Given the description of an element on the screen output the (x, y) to click on. 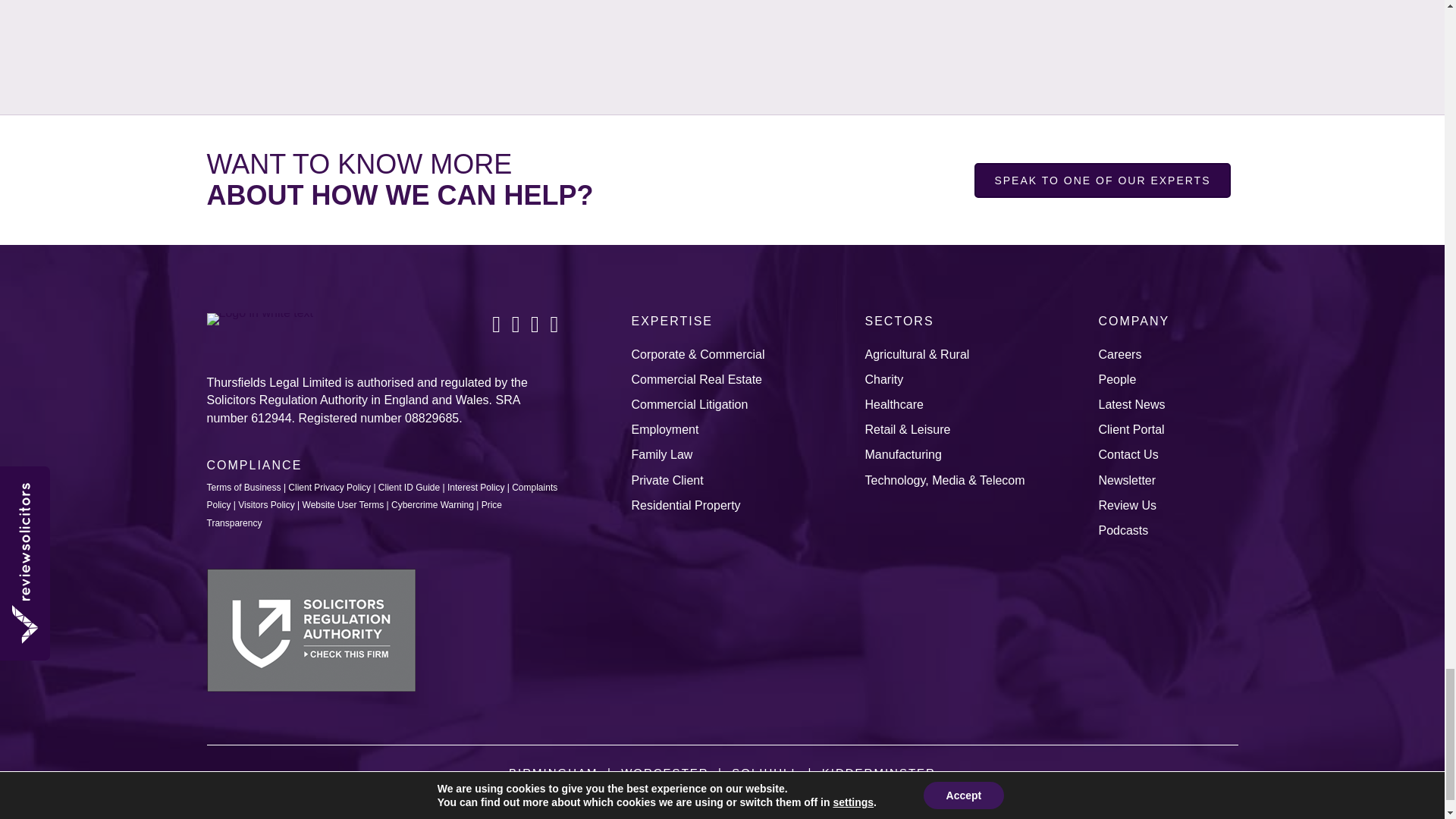
Company (1133, 320)
Expertise (671, 320)
logo (259, 318)
Sectors (898, 320)
Compliance (253, 464)
